Given the description of an element on the screen output the (x, y) to click on. 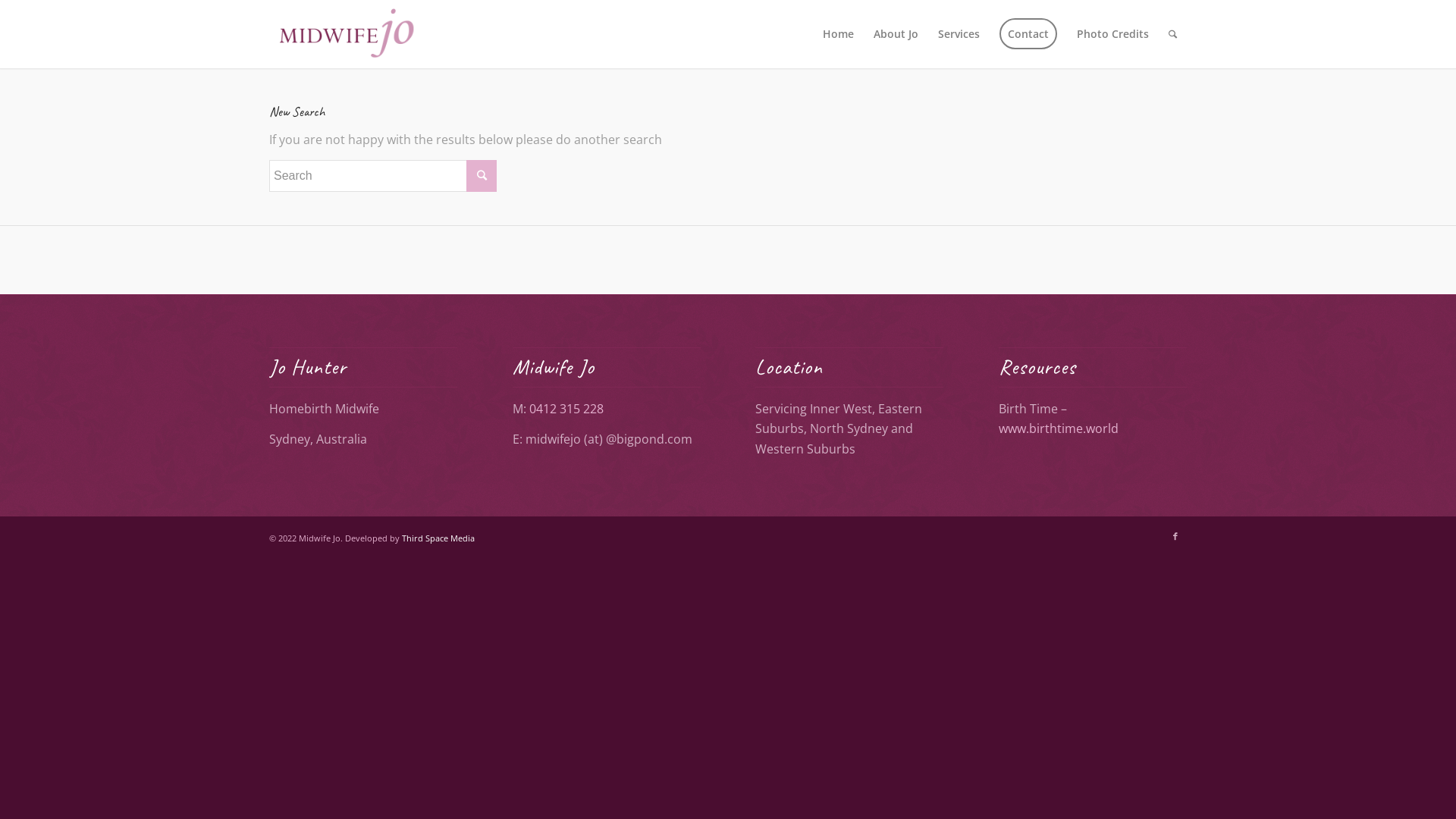
Home Element type: text (837, 34)
Contact Element type: text (1027, 34)
Facebook Element type: hover (1175, 535)
0412 315 228 Element type: text (566, 408)
Services Element type: text (958, 34)
Photo Credits Element type: text (1112, 34)
www.birthtime.world Element type: text (1058, 428)
About Jo Element type: text (895, 34)
Third Space Media Element type: text (437, 537)
